Given the description of an element on the screen output the (x, y) to click on. 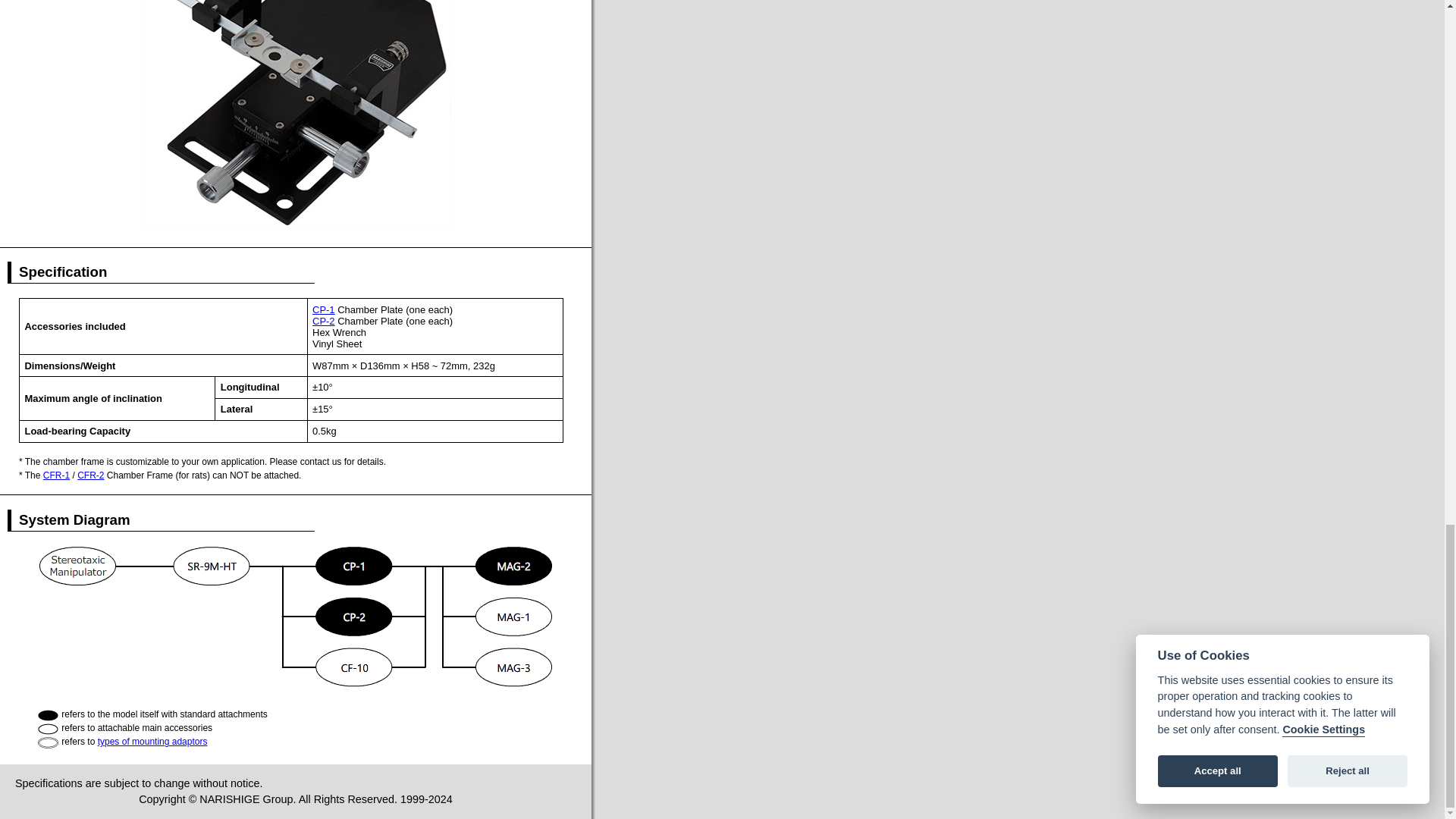
CP-2 (323, 320)
CP-2 (323, 320)
types of mounting adaptors (152, 741)
CP-1 (323, 309)
CFR-2 (90, 475)
CFR-1 (56, 475)
CP-1 (323, 309)
CFR-1 (56, 475)
